Given the description of an element on the screen output the (x, y) to click on. 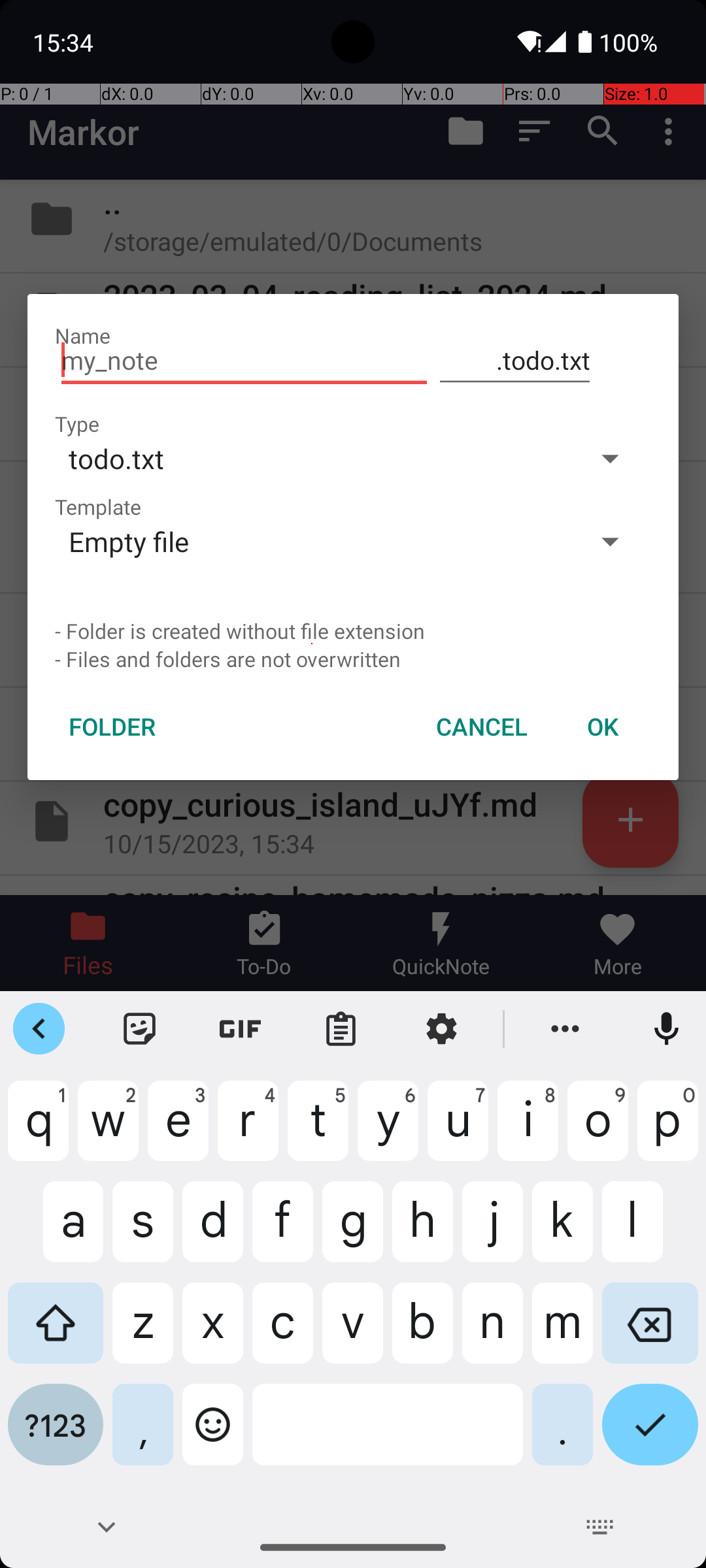
.todo.txt Element type: android.widget.EditText (514, 360)
